Given the description of an element on the screen output the (x, y) to click on. 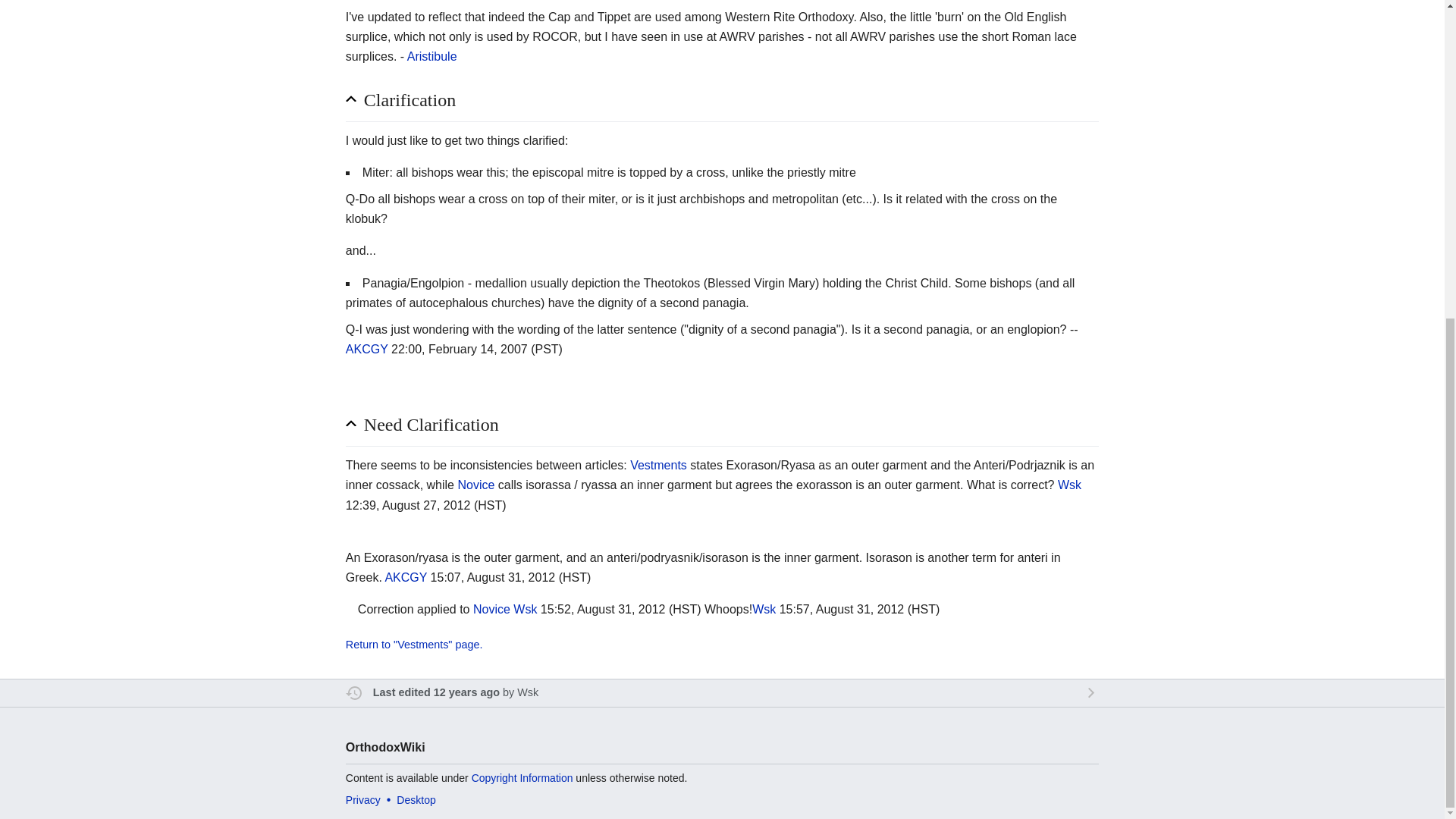
AKCGY (405, 576)
Novice (476, 484)
Novice (476, 484)
Return to "Vestments" page. (722, 645)
Vestments (658, 464)
Vestments (658, 464)
Aristibule (432, 56)
User:Wsk (1069, 484)
AKCGY (367, 349)
Wsk (525, 608)
